Given the description of an element on the screen output the (x, y) to click on. 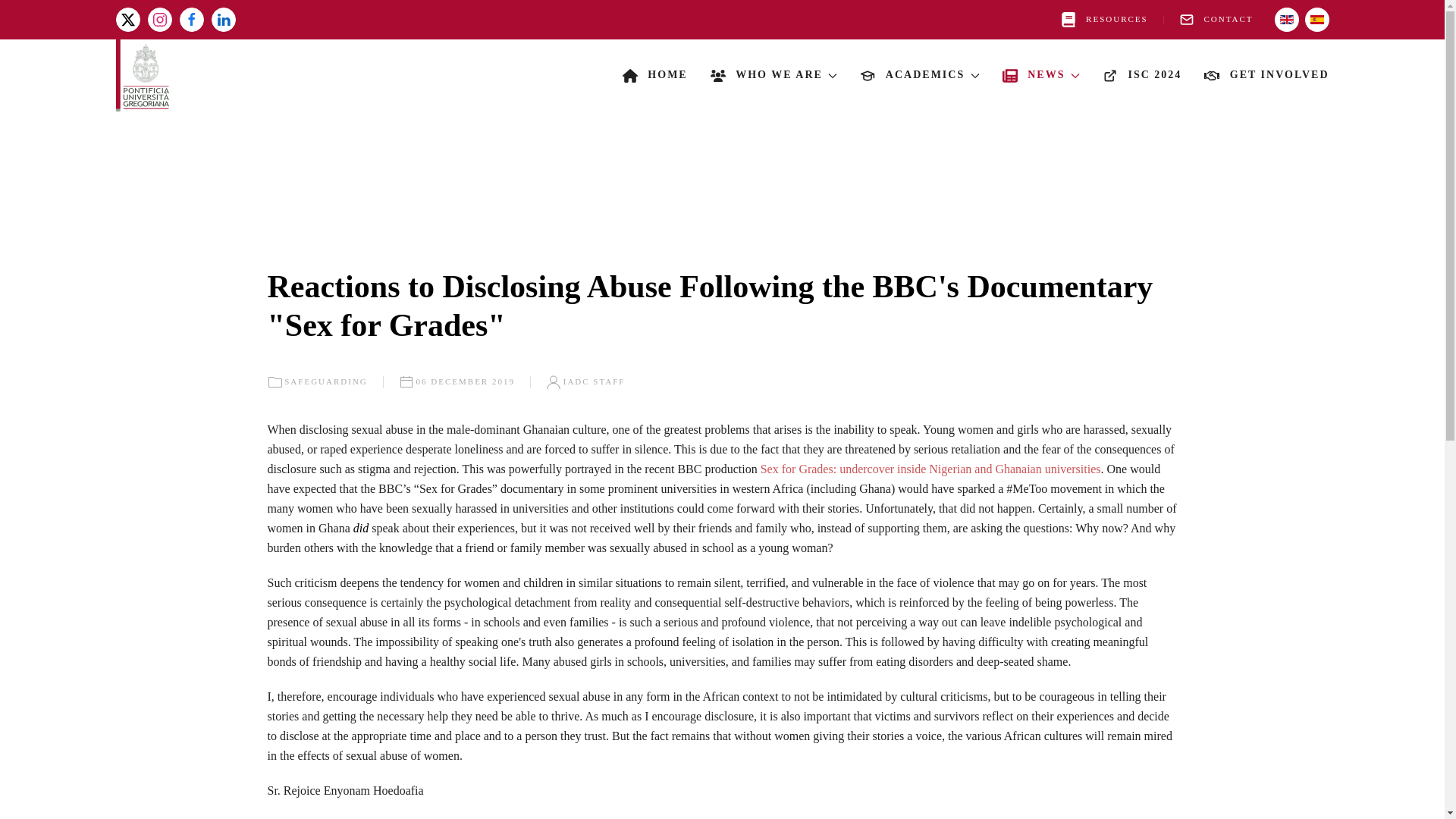
WHO WE ARE (774, 75)
CONTACT (1216, 19)
RESOURCES (1104, 19)
HOME (655, 75)
